Given the description of an element on the screen output the (x, y) to click on. 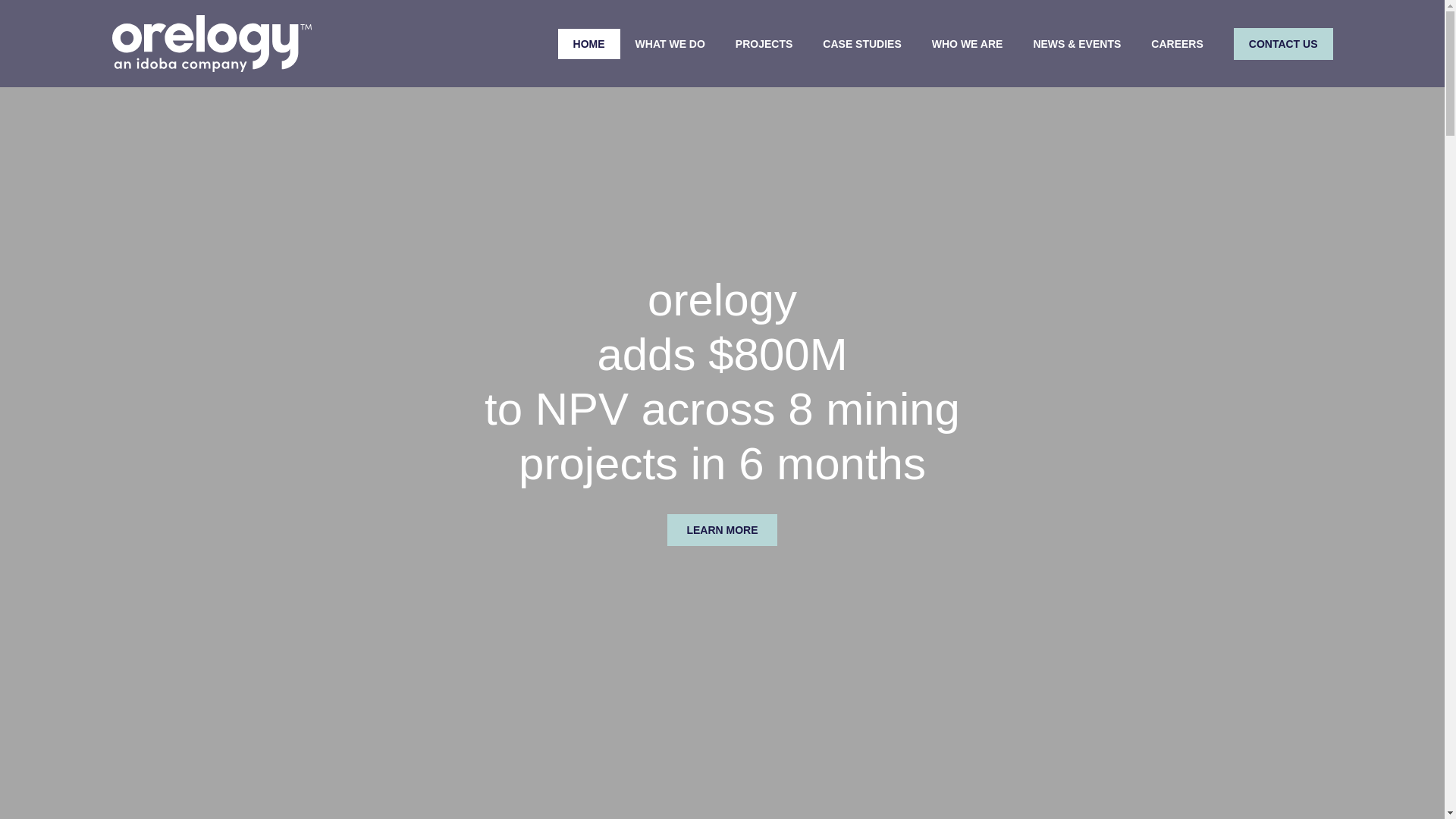
HOME (588, 43)
CONTACT US (1283, 42)
CASE STUDIES (861, 43)
WHAT WE DO (670, 43)
PROJECTS (764, 43)
LEARN MORE (721, 530)
CAREERS (1176, 43)
WHO WE ARE (967, 43)
